Given the description of an element on the screen output the (x, y) to click on. 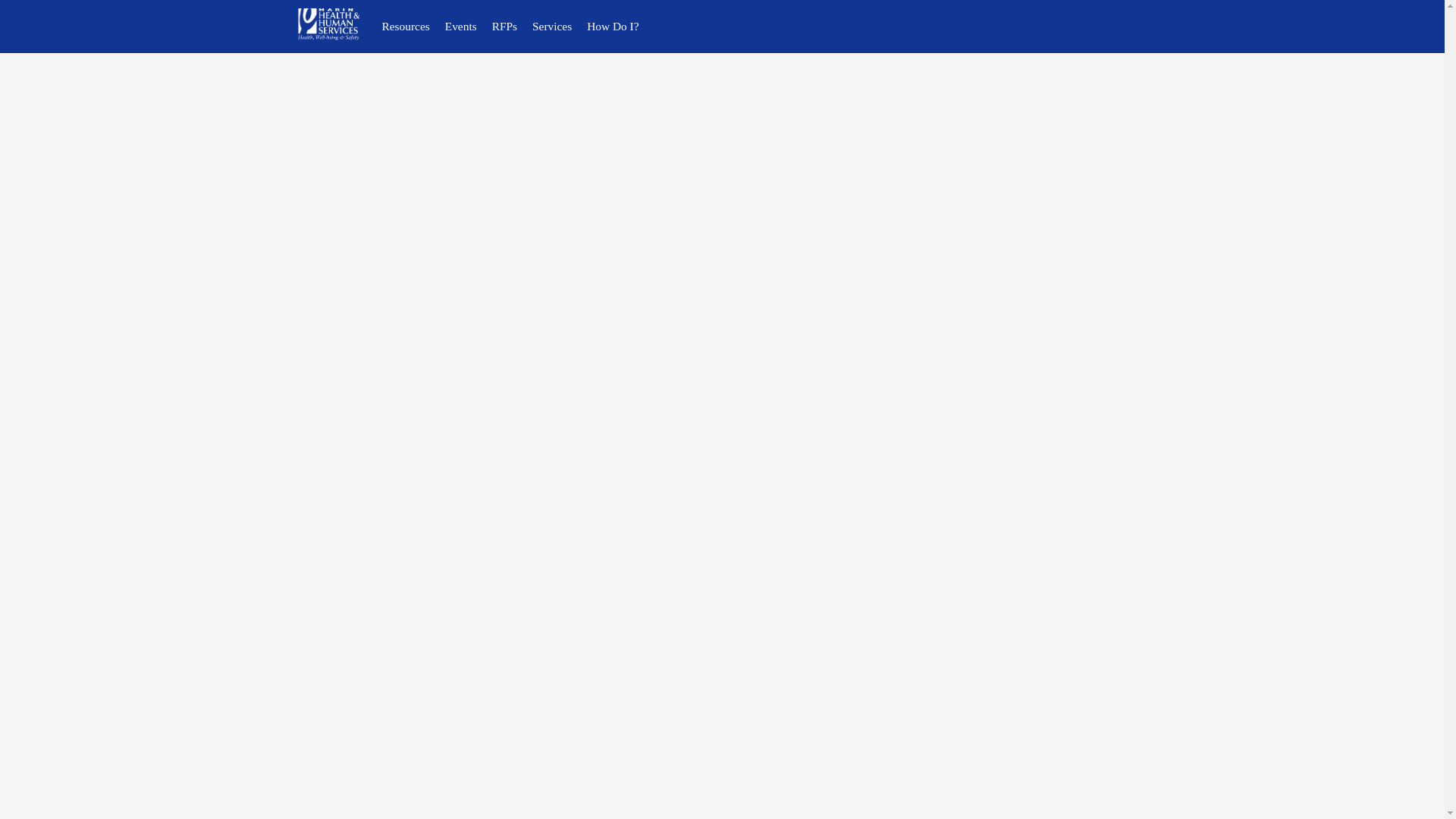
Requests for Proposals (504, 26)
Resources (406, 26)
Events (461, 26)
RFPs (504, 26)
Services (551, 26)
How Do I? (612, 26)
